Given the description of an element on the screen output the (x, y) to click on. 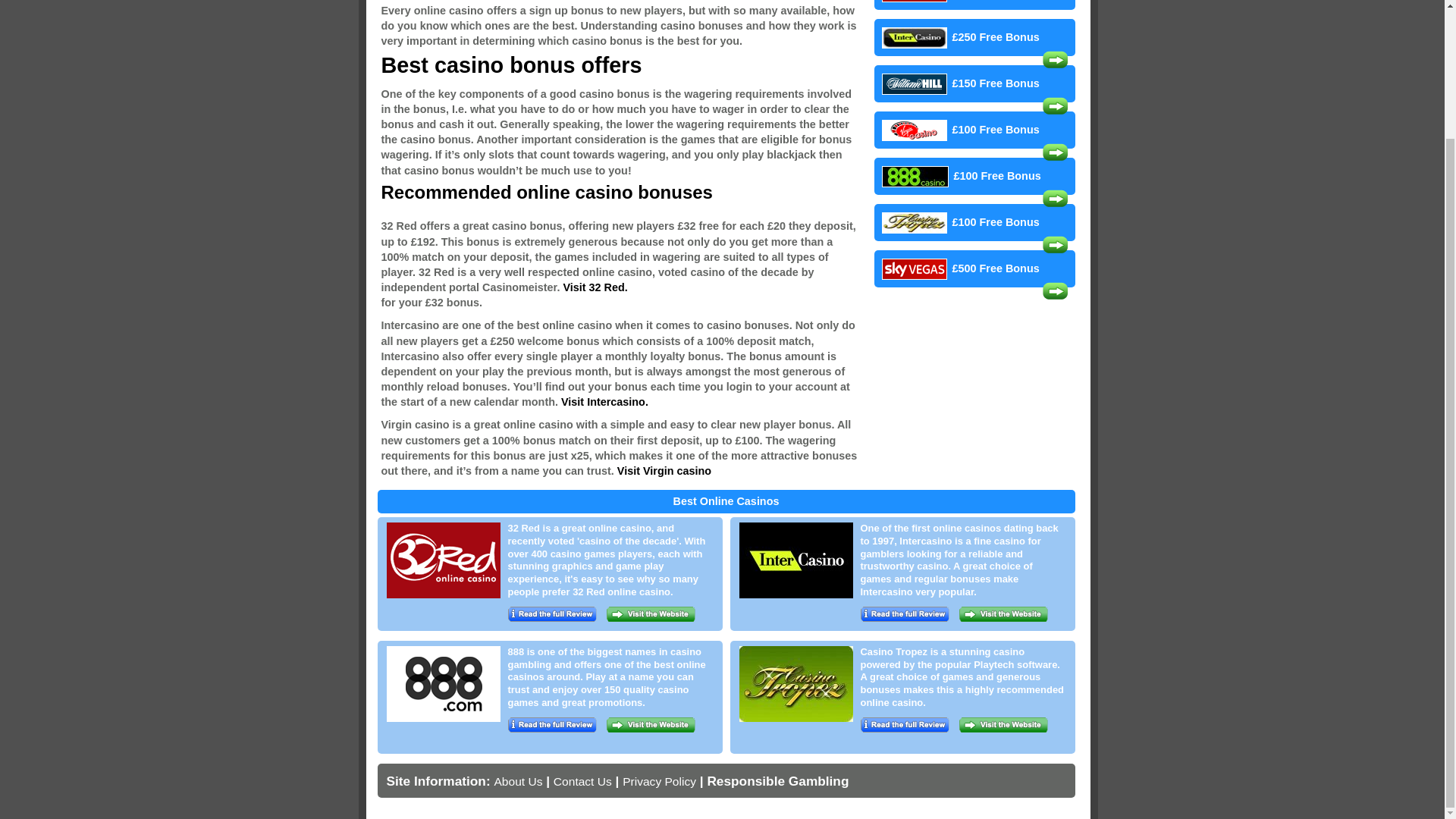
Intercasino (603, 401)
Visit 32 Red. (594, 287)
Virgin Casino (664, 470)
Visit Virgin casino (664, 470)
32 Red (594, 287)
Visit Intercasino. (603, 401)
